Given the description of an element on the screen output the (x, y) to click on. 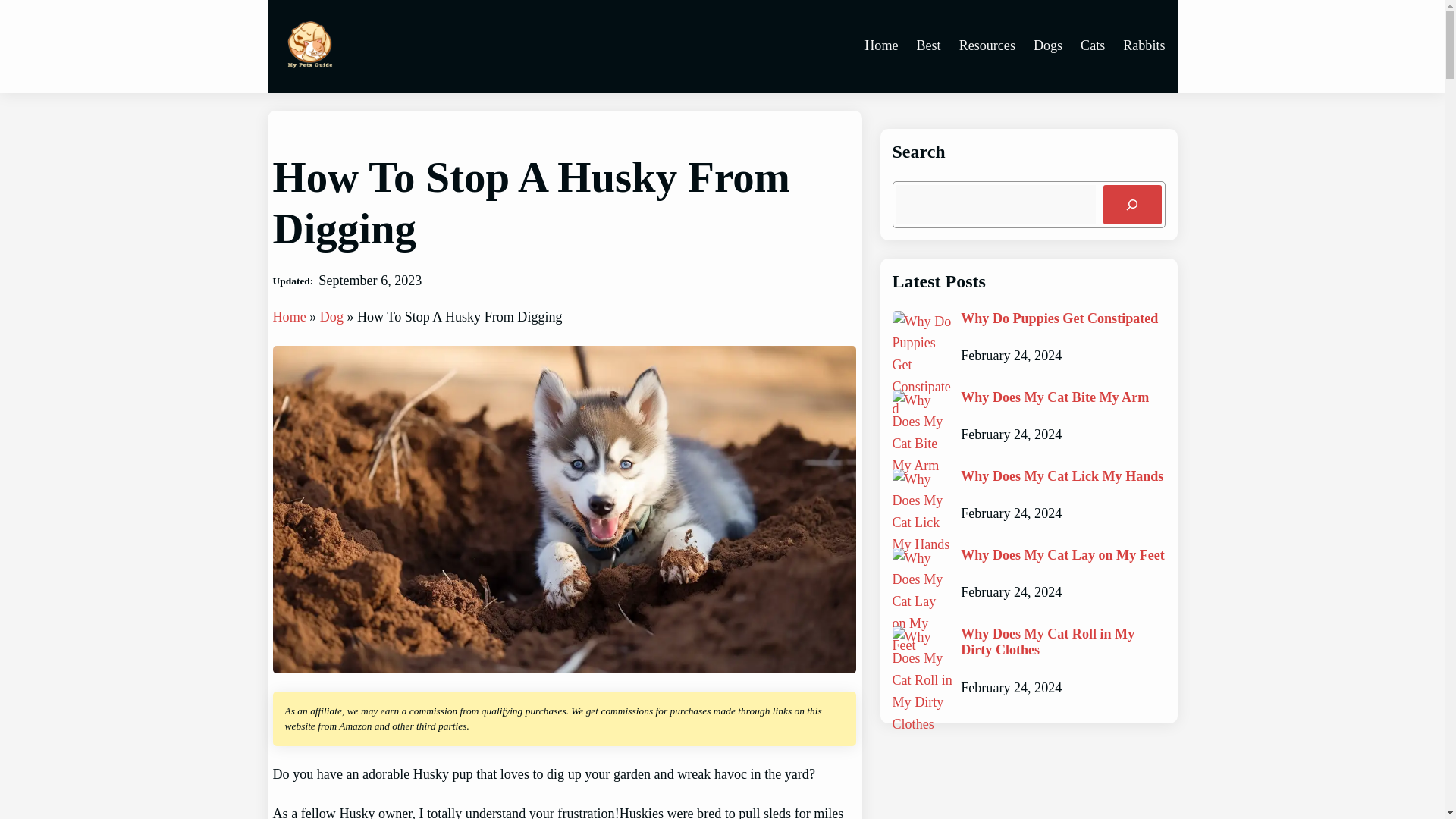
Why Does My Cat Lick My Hands (1061, 476)
Why Does My Cat Lay on My Feet (1062, 555)
Why Does My Cat Bite My Arm (1054, 397)
Best (927, 45)
Home (289, 316)
Cats (1092, 45)
Dogs (1047, 45)
Why Do Puppies Get Constipated (1058, 319)
Resources (986, 45)
Dog (331, 316)
